Given the description of an element on the screen output the (x, y) to click on. 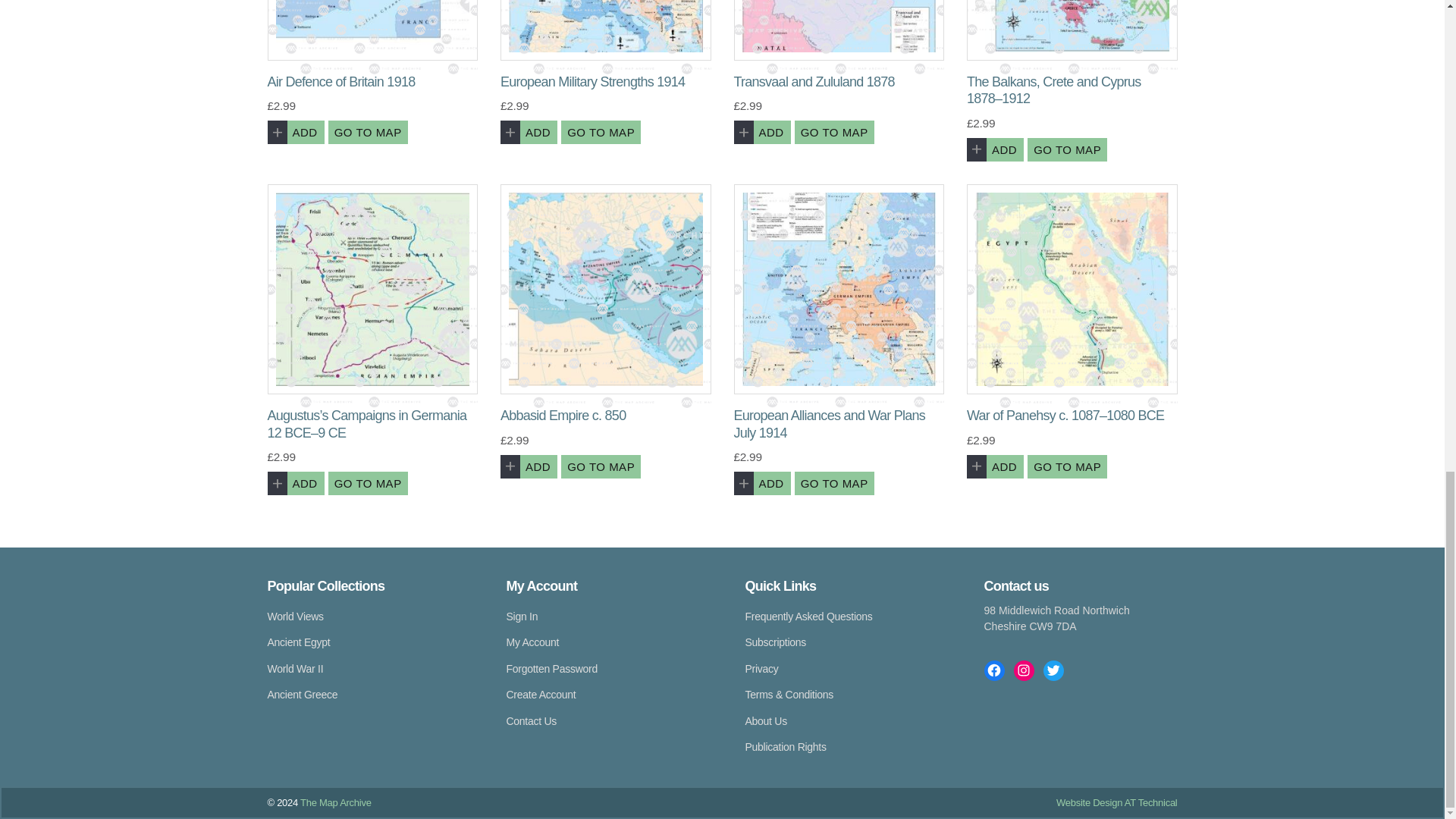
European Alliances and War Plans July 1914 (838, 289)
Transvaal and Zululand 1878 (838, 30)
Abbasid Empire c. 850 (605, 289)
Air Defence of Britain 1918 (371, 30)
European Military Strengths 1914 (605, 30)
